Given the description of an element on the screen output the (x, y) to click on. 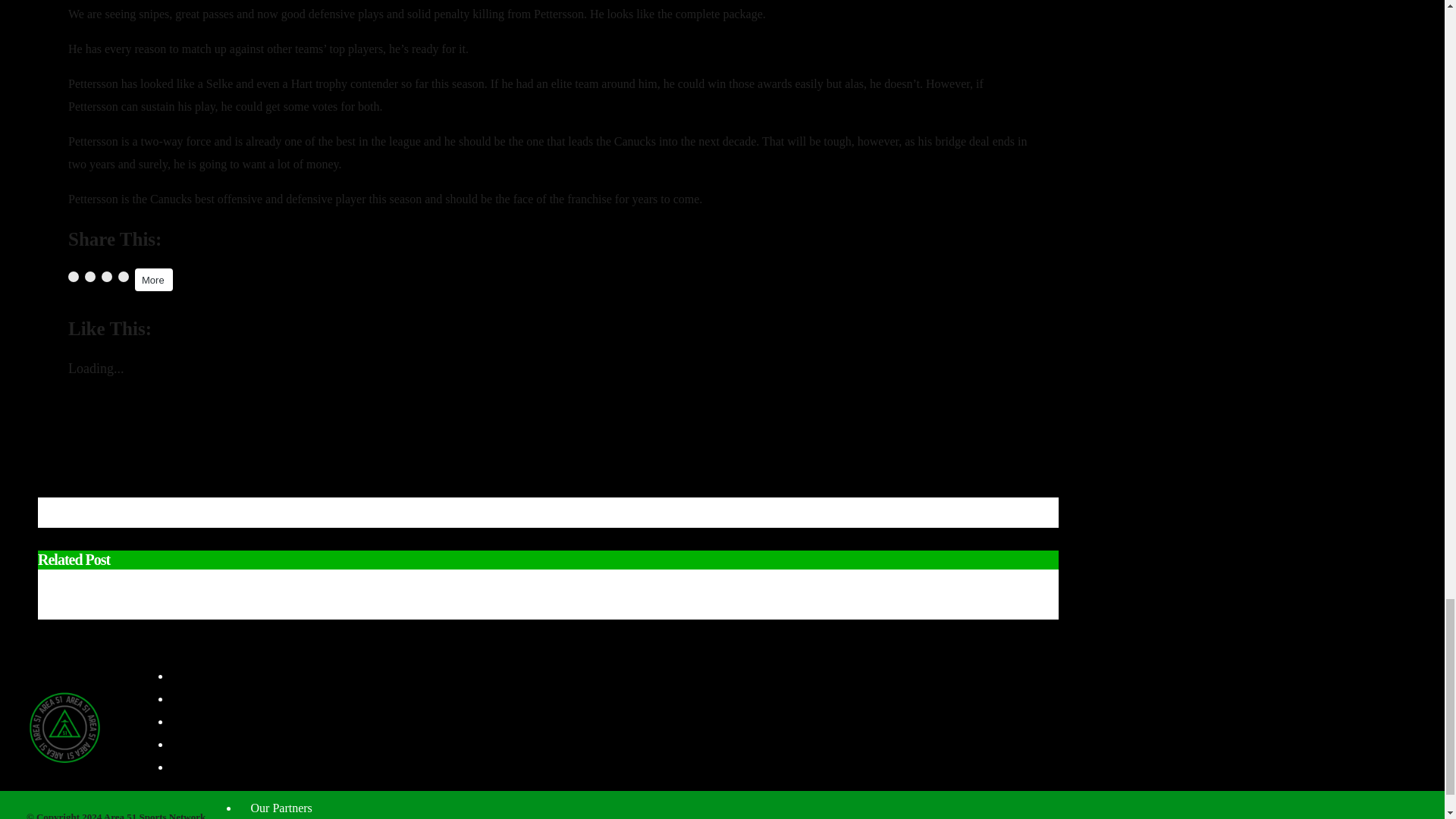
Click to share on X (90, 276)
Click to share on LinkedIn (106, 276)
Click to share on Threads (123, 276)
Click to share on Facebook (73, 276)
